Given the description of an element on the screen output the (x, y) to click on. 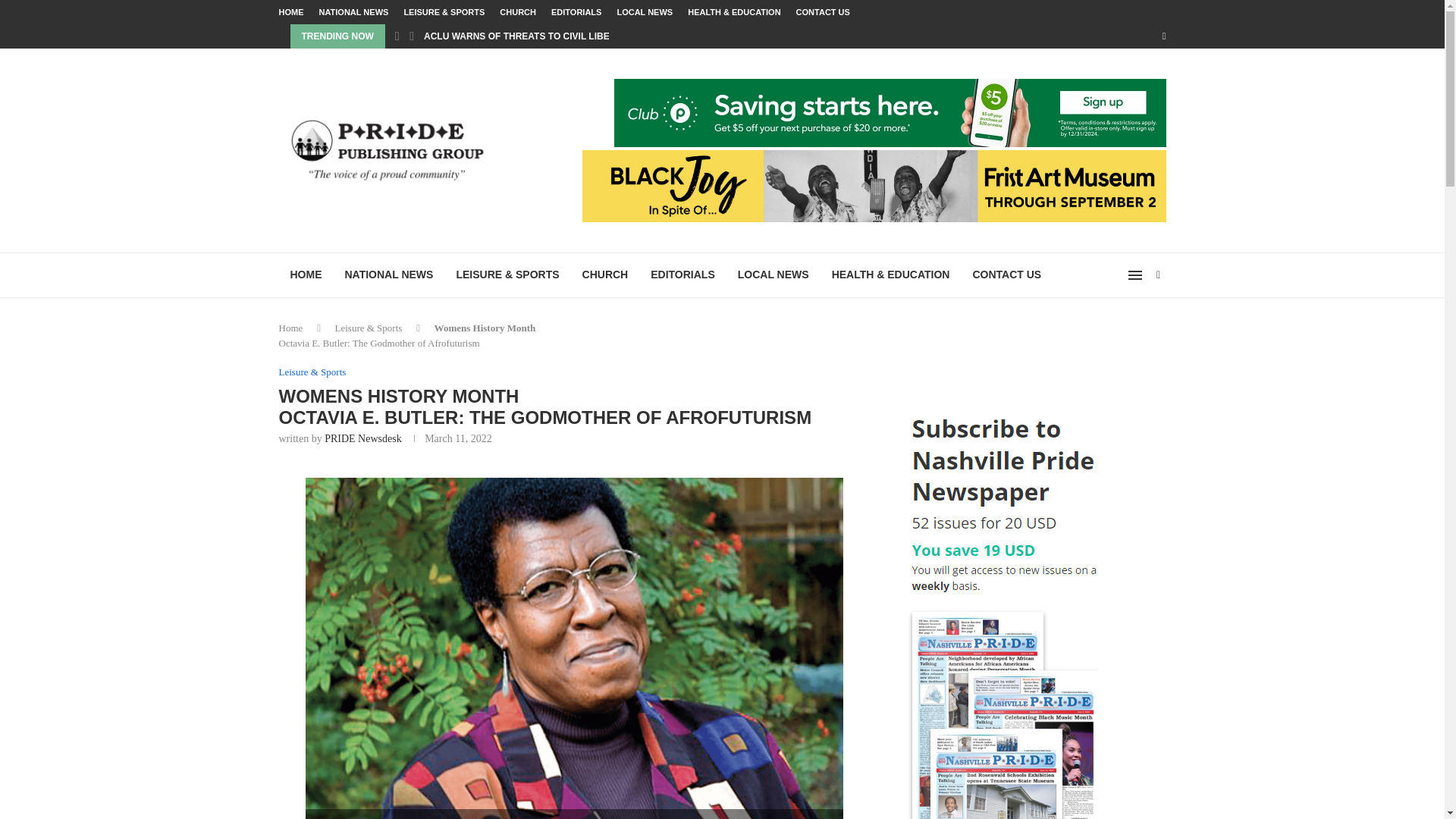
HOME (306, 275)
NATIONAL NEWS (353, 12)
LOCAL NEWS (643, 12)
LOCAL NEWS (773, 275)
NATIONAL NEWS (389, 275)
EDITORIALS (682, 275)
EDITORIALS (576, 12)
HOME (291, 12)
CHURCH (605, 275)
CHURCH (517, 12)
CONTACT US (823, 12)
ACLU WARNS OF THREATS TO CIVIL LIBERTIES UNDER... (550, 36)
